Given the description of an element on the screen output the (x, y) to click on. 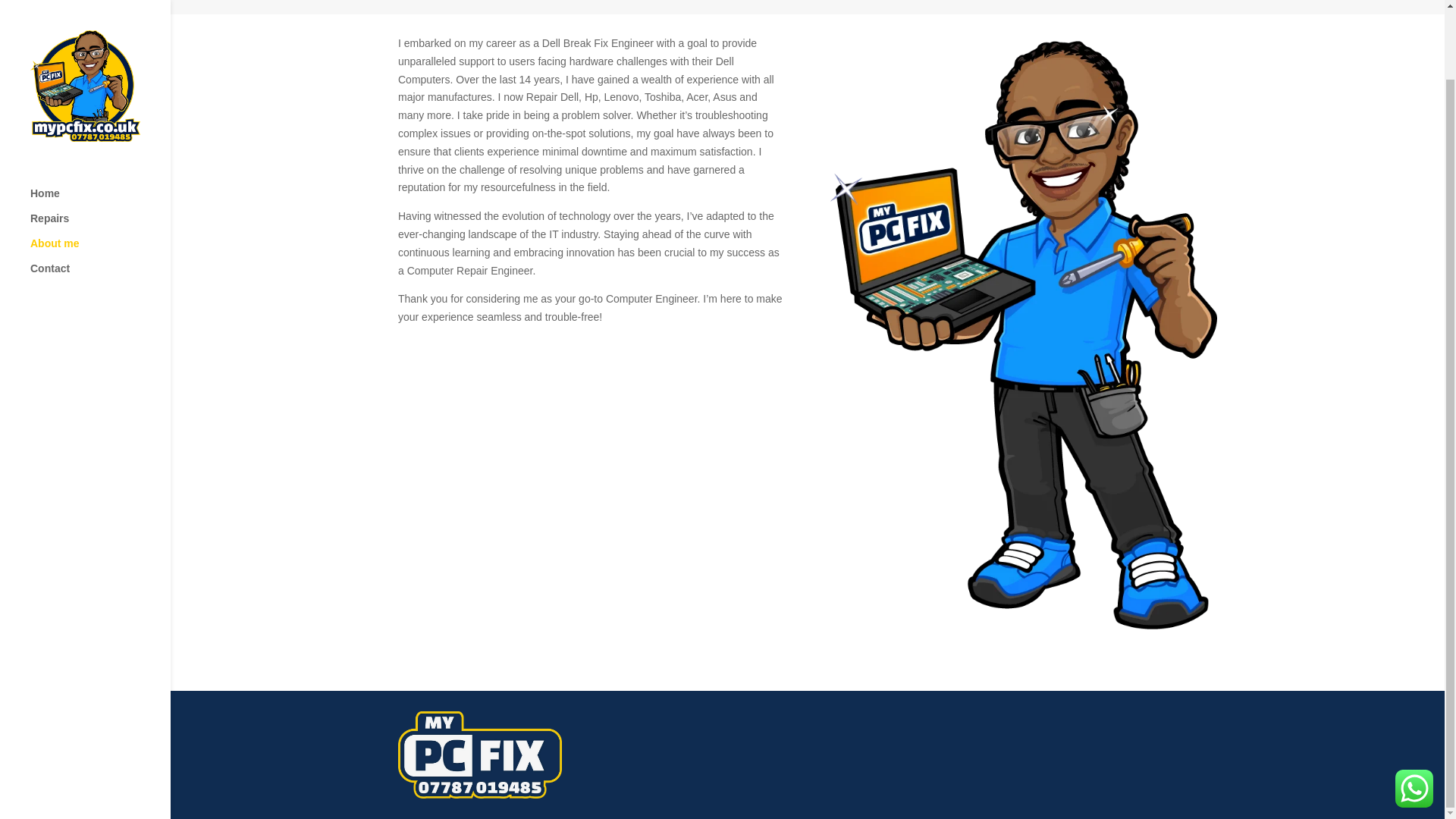
About me (100, 173)
Repairs (100, 148)
Contact (100, 198)
MyPCFix - Computer Repairs Buckinghamshire (590, 458)
Home (100, 123)
